Given the description of an element on the screen output the (x, y) to click on. 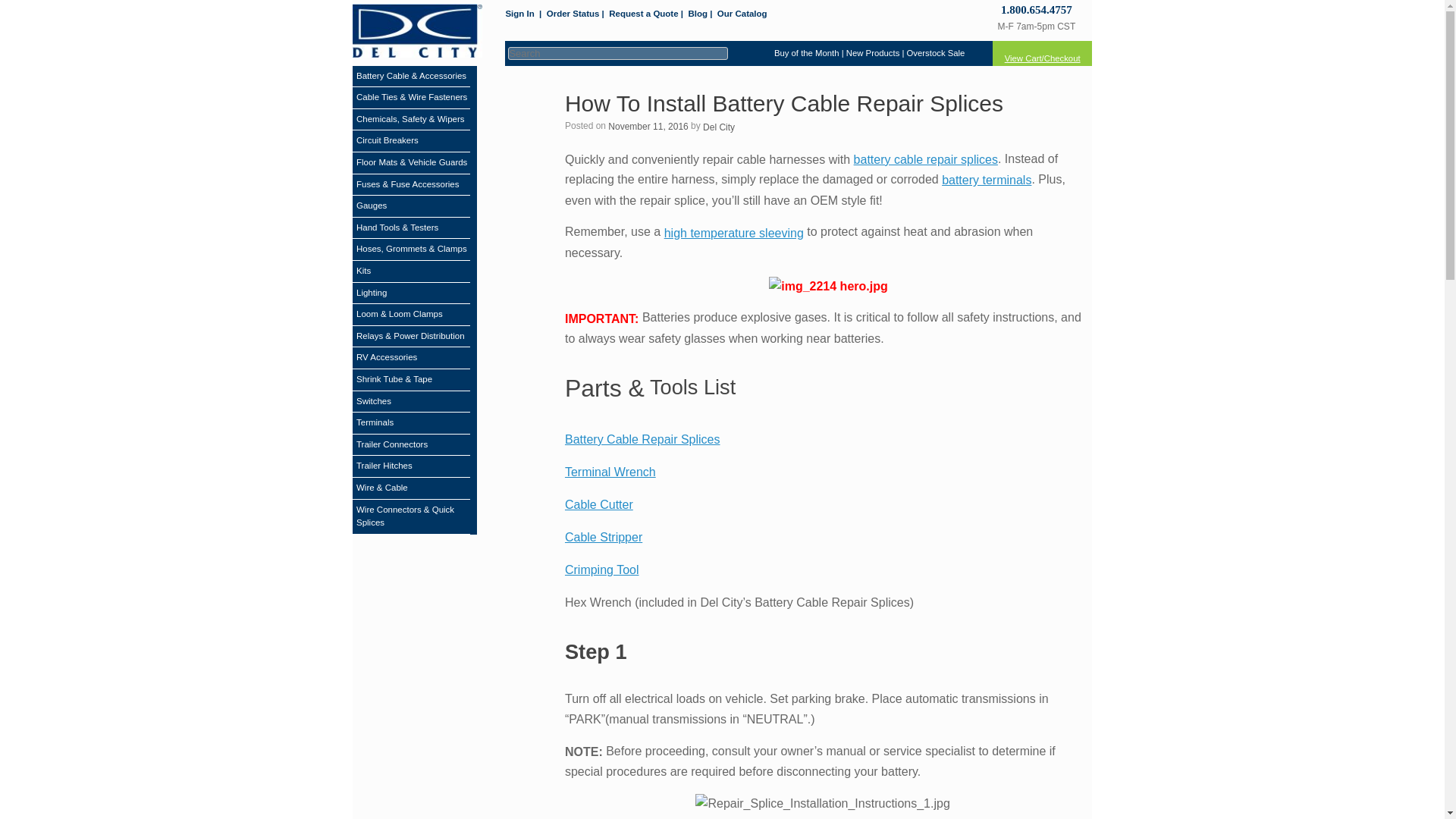
battery cable repair splices (925, 159)
high temperature sleeving (733, 232)
Circuit Breakers (387, 140)
Cable Stripper (603, 536)
View all posts by Del City (719, 127)
Order Status (573, 13)
view shopping cart (1042, 52)
Our Catalog (742, 13)
Blog (697, 13)
Crimping Tool (601, 569)
